Given the description of an element on the screen output the (x, y) to click on. 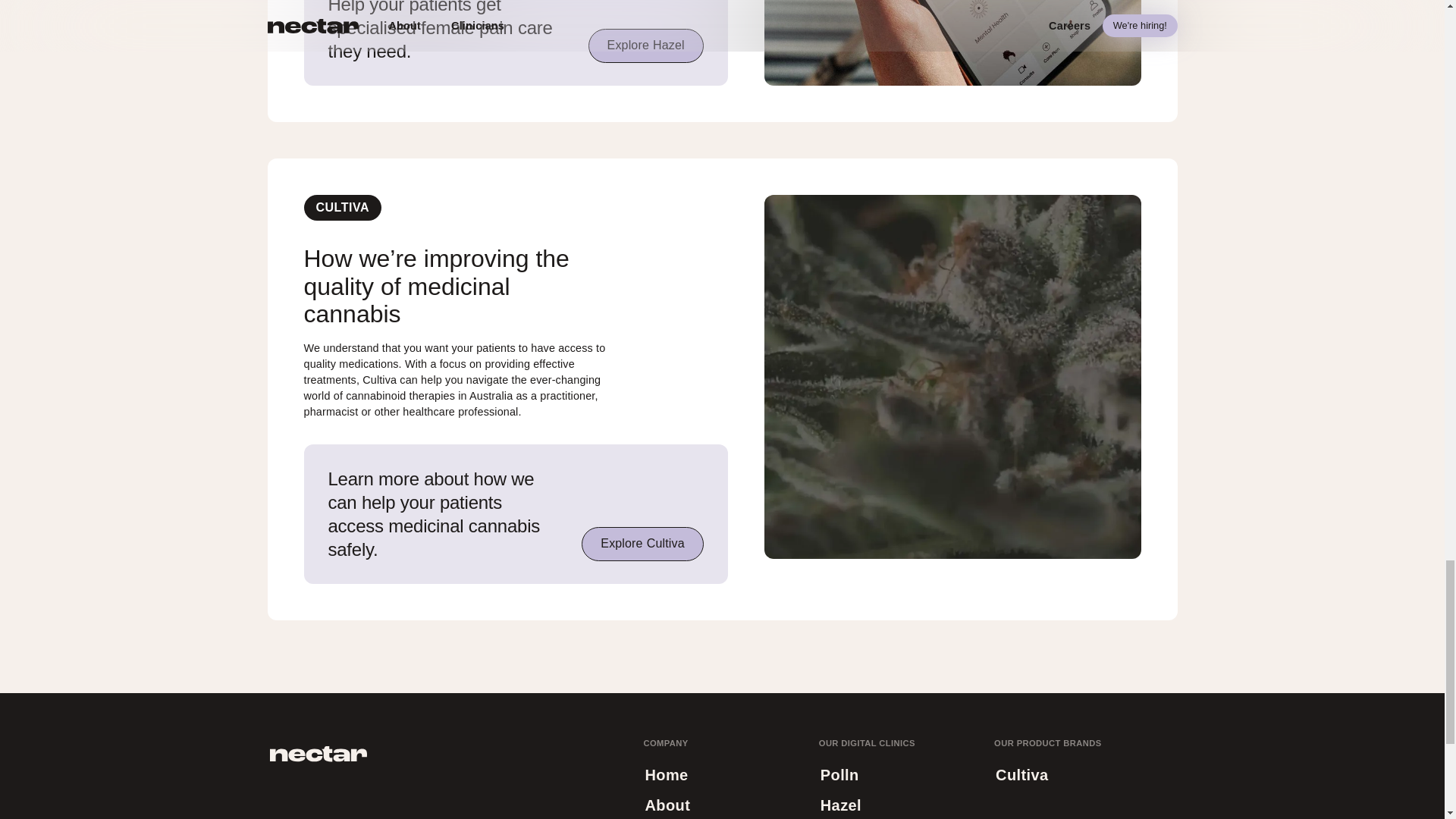
About (667, 804)
Hazel (840, 804)
Home (641, 544)
Polln (666, 775)
Cultiva (645, 45)
